Given the description of an element on the screen output the (x, y) to click on. 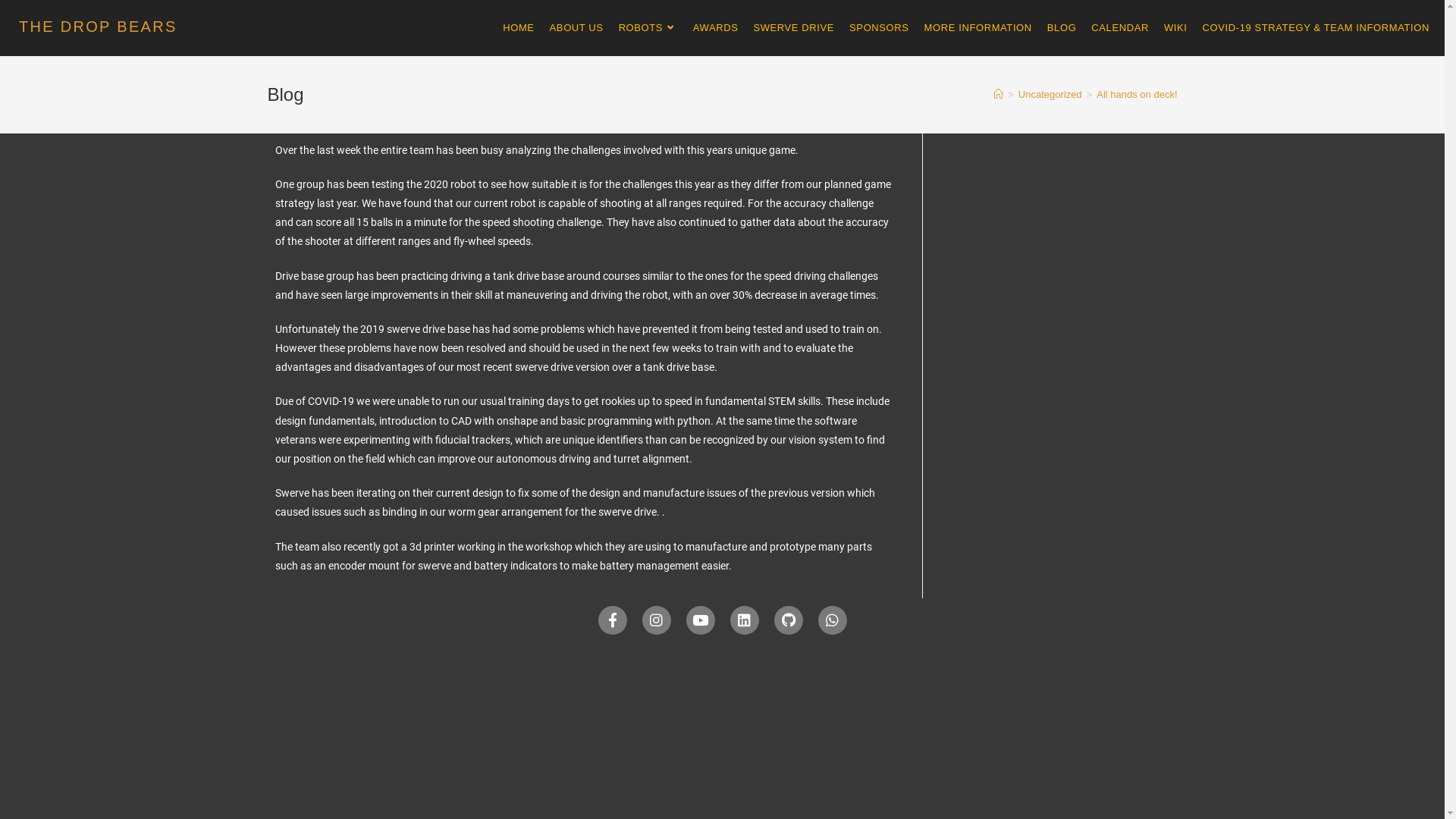
BLOG Element type: text (1061, 28)
All hands on deck! Element type: text (1136, 94)
SWERVE DRIVE Element type: text (793, 28)
SPONSORS Element type: text (878, 28)
ROBOTS Element type: text (648, 28)
CALENDAR Element type: text (1119, 28)
AWARDS Element type: text (715, 28)
ABOUT US Element type: text (576, 28)
COVID-19 STRATEGY & TEAM INFORMATION Element type: text (1316, 28)
MORE INFORMATION Element type: text (977, 28)
THE DROP BEARS Element type: text (97, 26)
HOME Element type: text (518, 28)
WIKI Element type: text (1175, 28)
Uncategorized Element type: text (1050, 94)
